Given the description of an element on the screen output the (x, y) to click on. 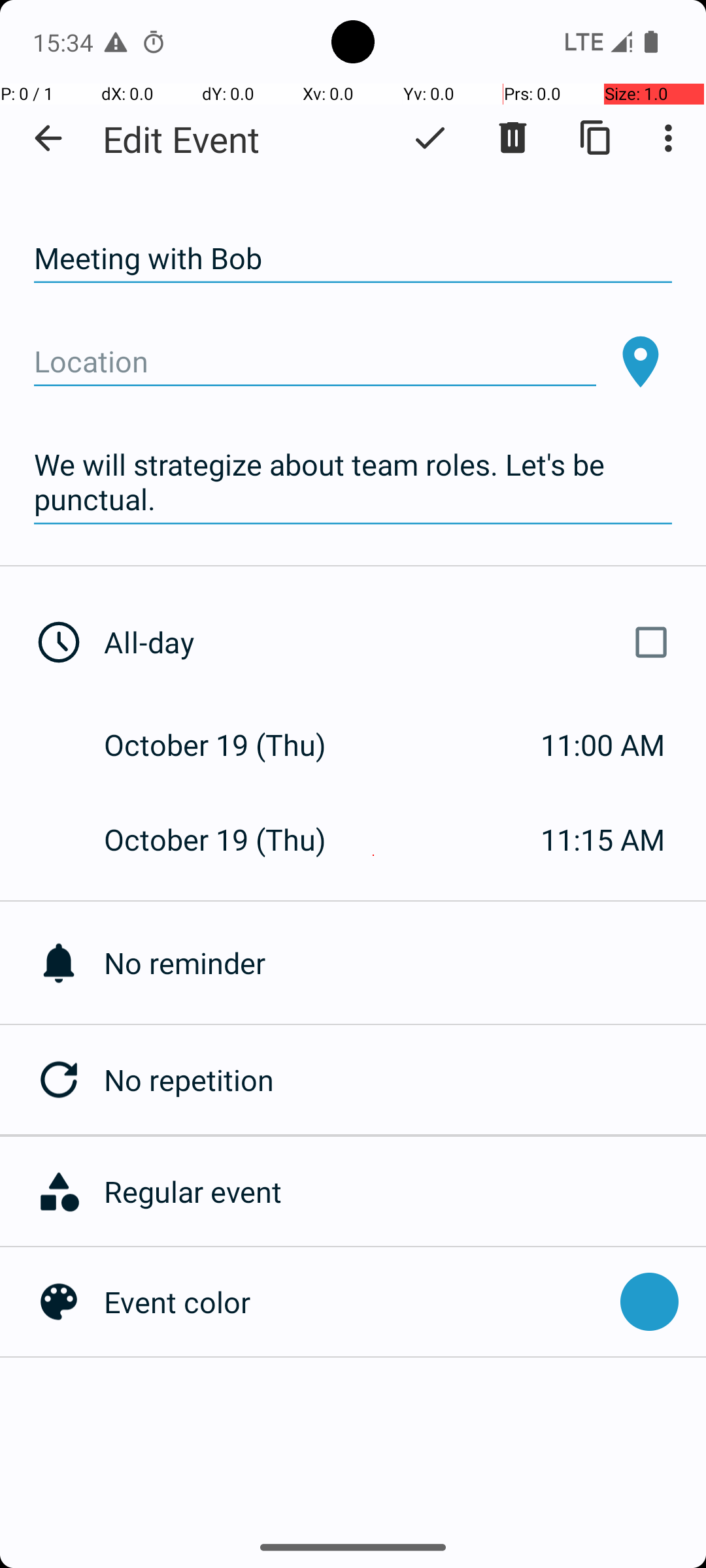
Meeting with Bob Element type: android.widget.EditText (352, 258)
We will strategize about team roles. Let's be punctual. Element type: android.widget.EditText (352, 482)
October 19 (Thu) Element type: android.widget.TextView (228, 744)
11:00 AM Element type: android.widget.TextView (602, 744)
11:15 AM Element type: android.widget.TextView (602, 838)
